Given the description of an element on the screen output the (x, y) to click on. 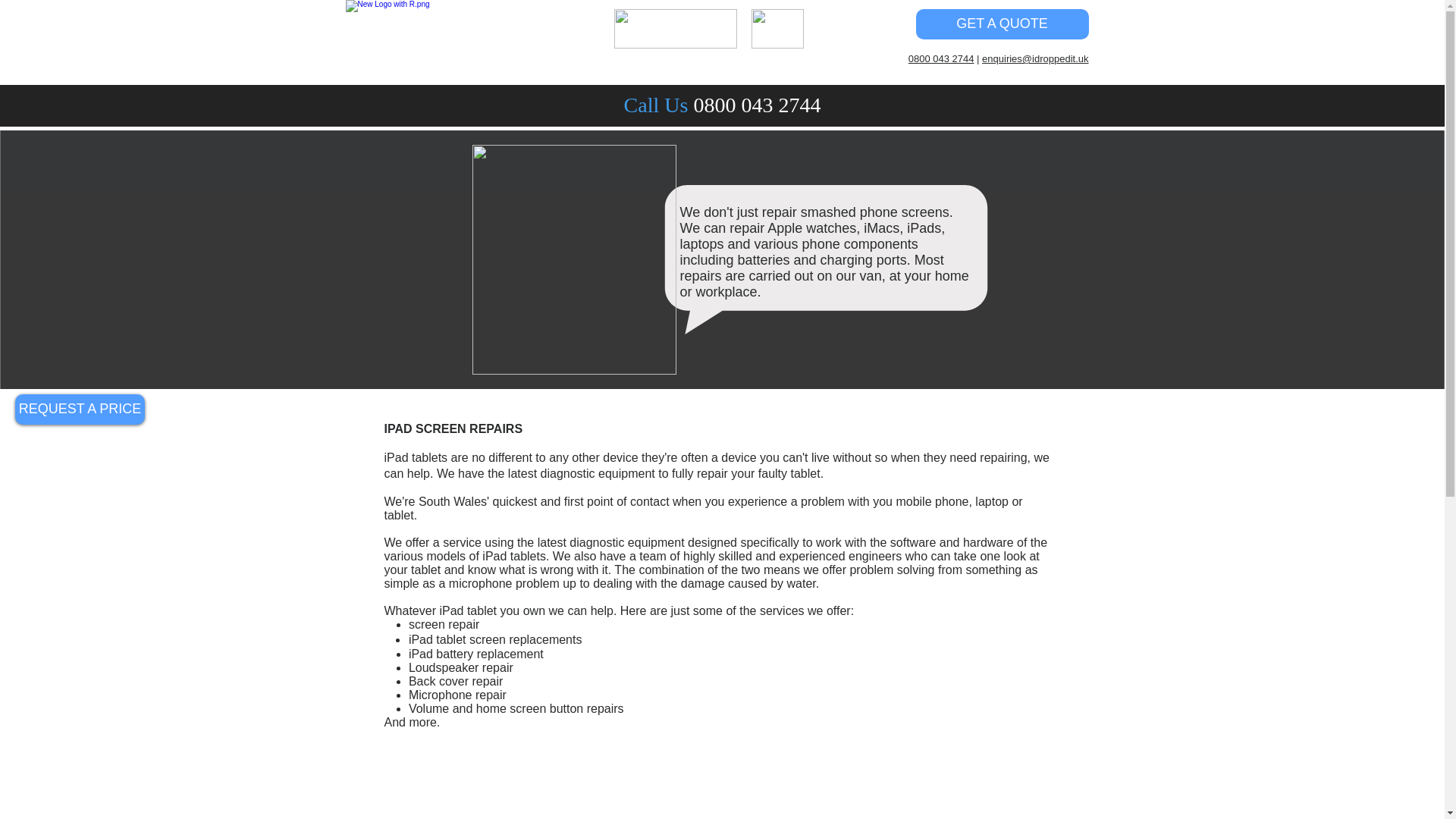
GET A QUOTE (1002, 24)
REQUEST A PRICE (79, 409)
0800 043 2744 (941, 58)
